Given the description of an element on the screen output the (x, y) to click on. 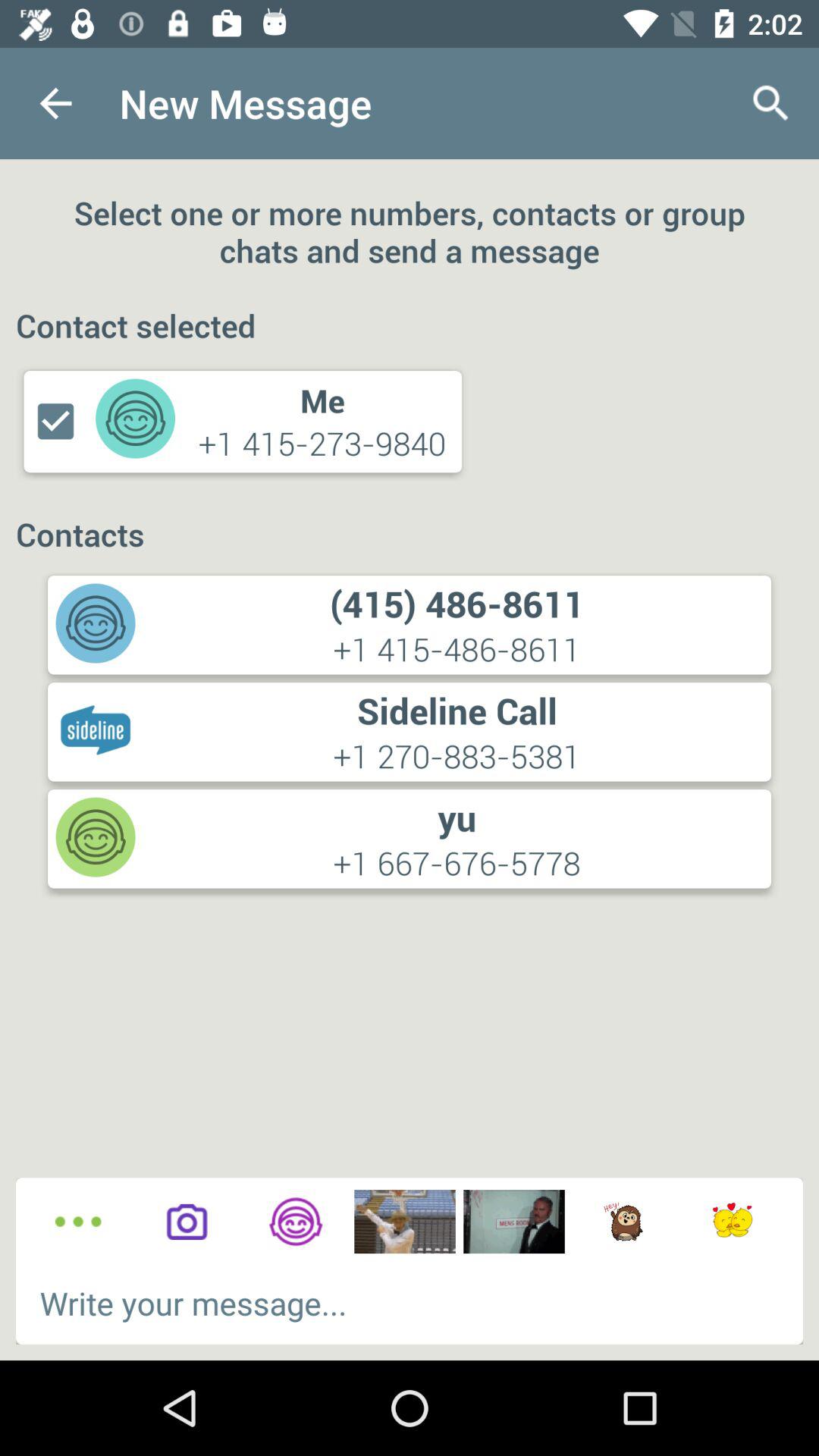
send gif (622, 1221)
